Given the description of an element on the screen output the (x, y) to click on. 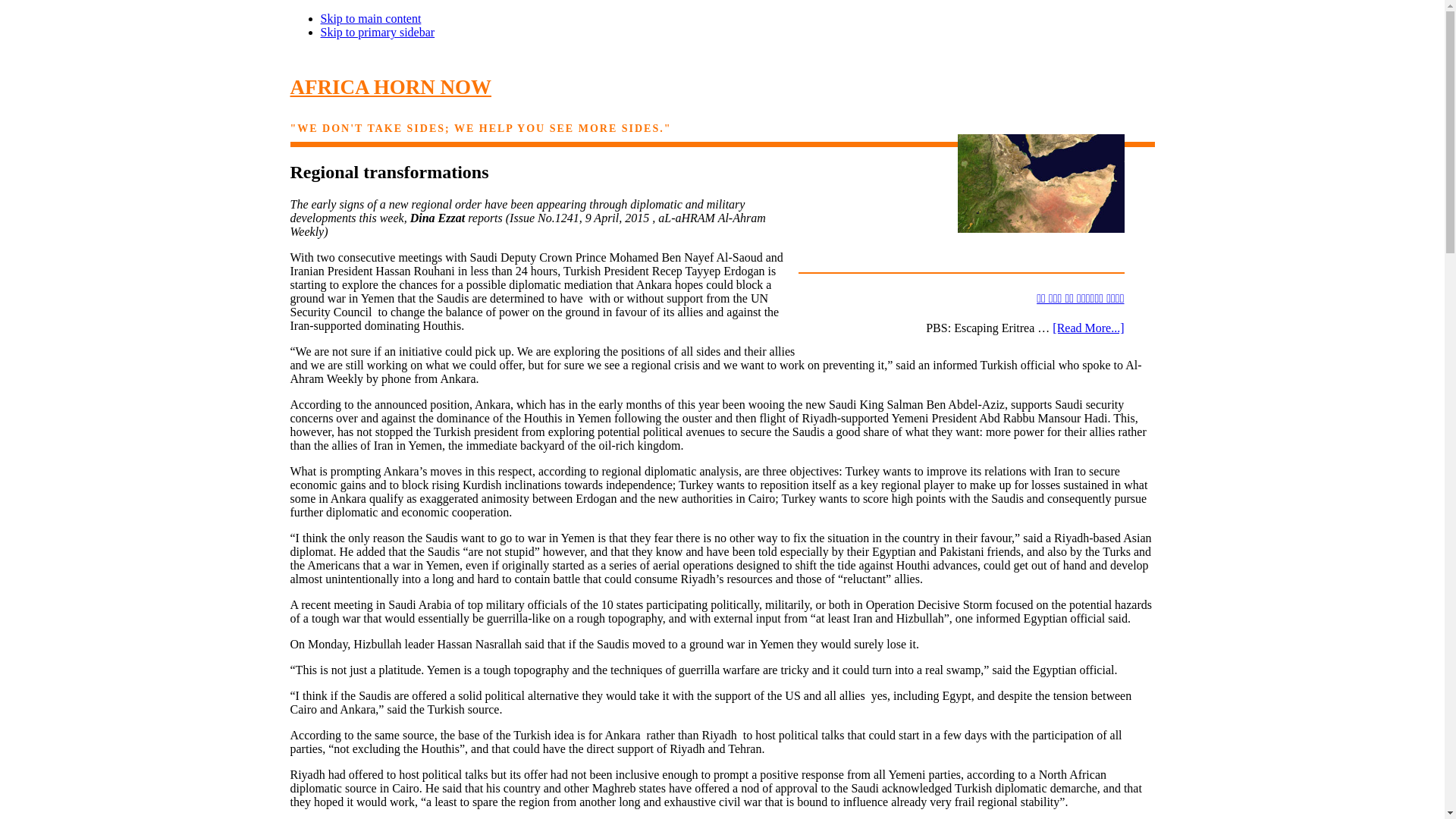
Skip to primary sidebar (376, 31)
AFRICA HORN NOW (390, 87)
Skip to main content (370, 18)
